Given the description of an element on the screen output the (x, y) to click on. 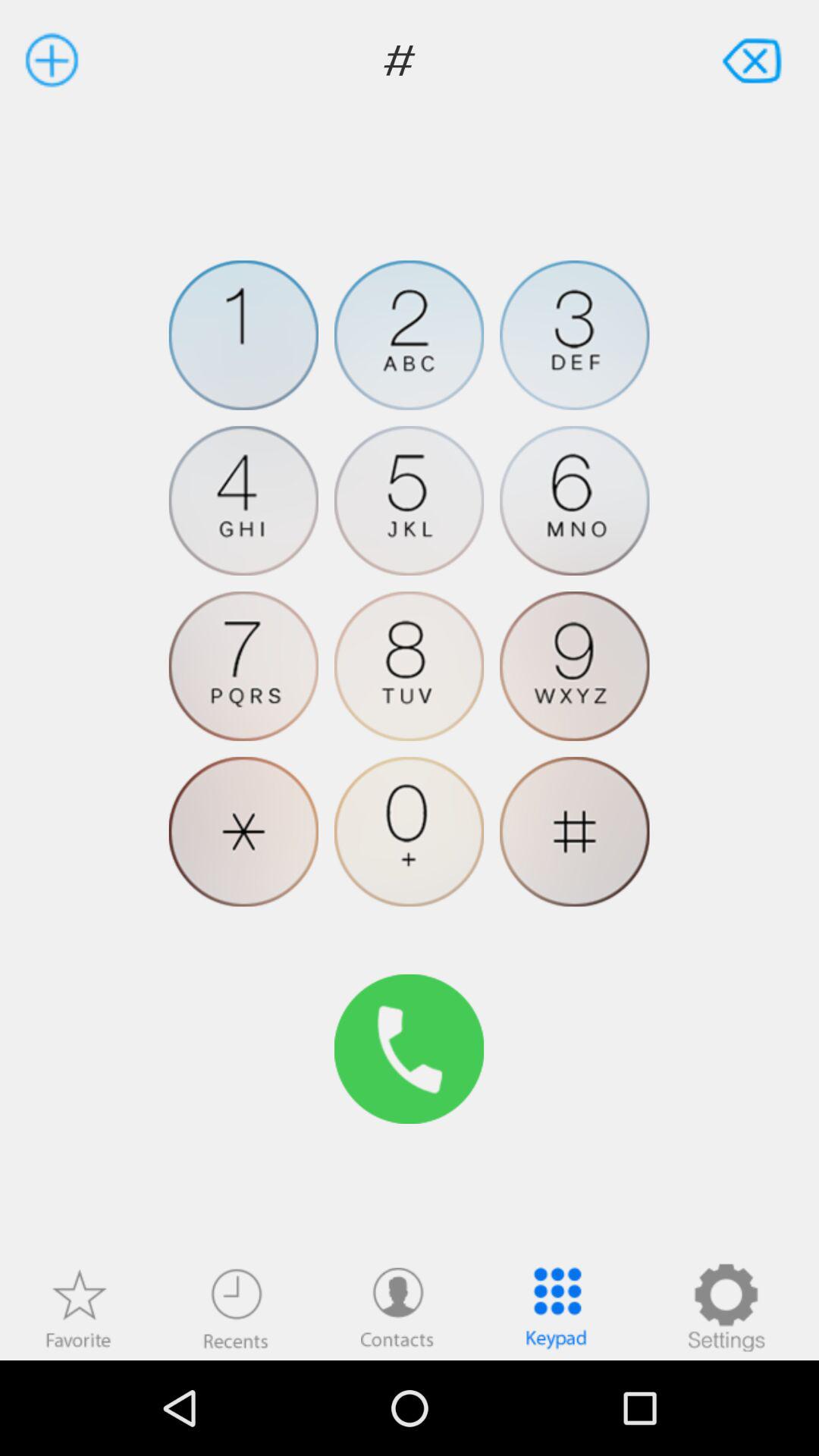
press number 6 (574, 500)
